Given the description of an element on the screen output the (x, y) to click on. 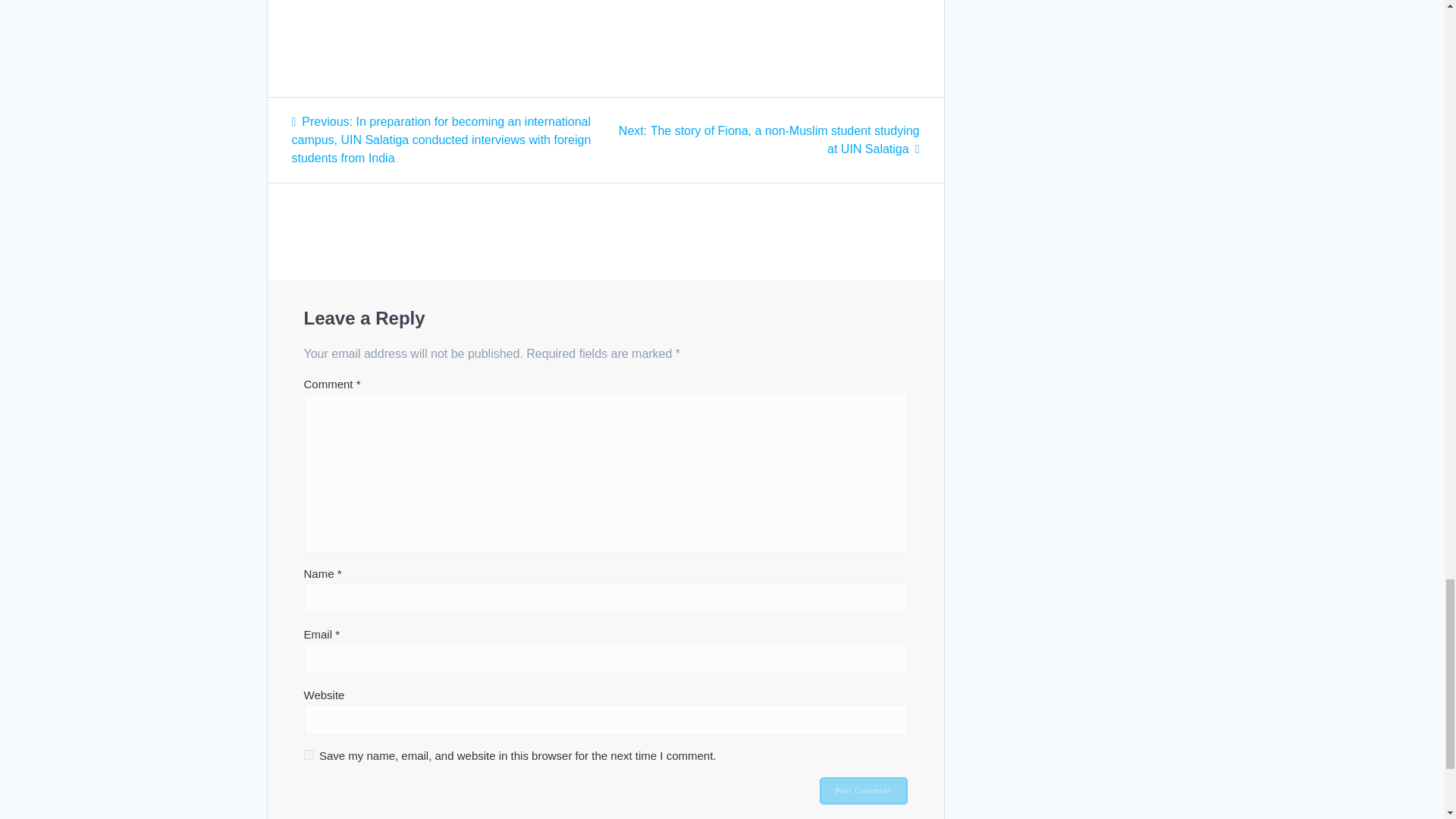
Post Comment (863, 790)
yes (307, 755)
